Given the description of an element on the screen output the (x, y) to click on. 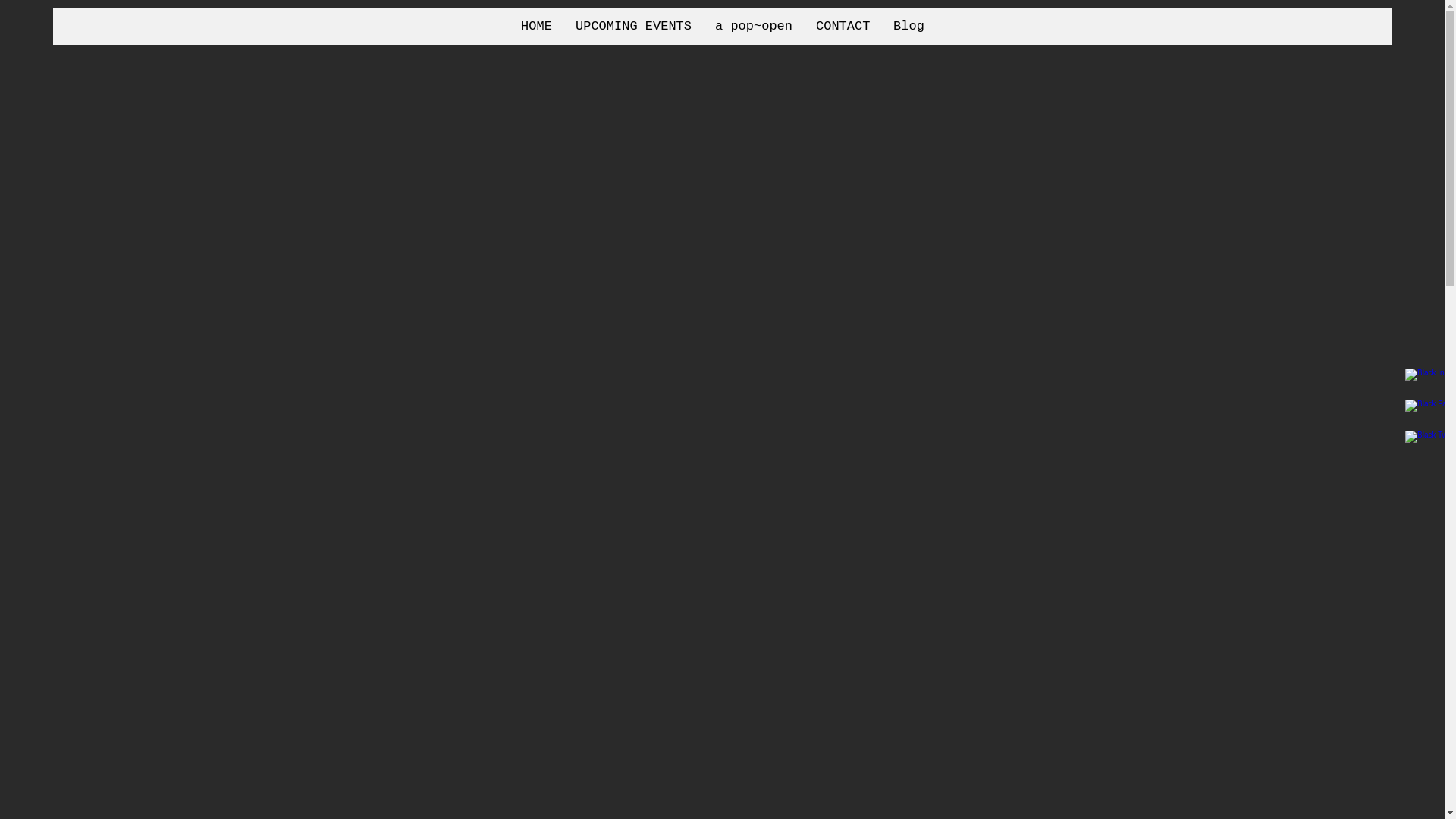
a pop~open Element type: text (752, 26)
HOME Element type: text (535, 26)
CONTACT Element type: text (842, 26)
UPCOMING EVENTS Element type: text (632, 26)
Blog Element type: text (908, 26)
